Given the description of an element on the screen output the (x, y) to click on. 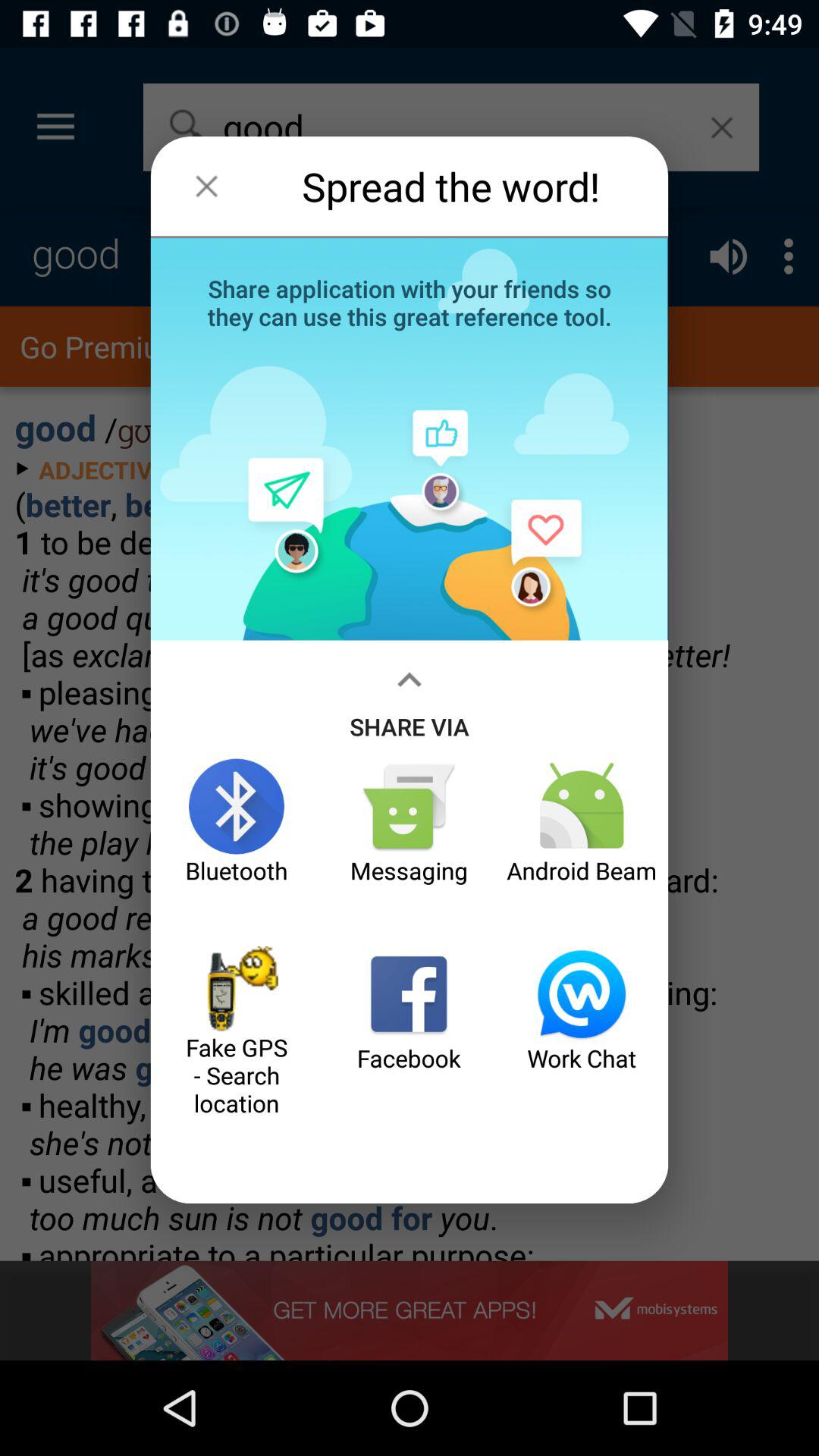
choose the item at the top left corner (206, 186)
